Given the description of an element on the screen output the (x, y) to click on. 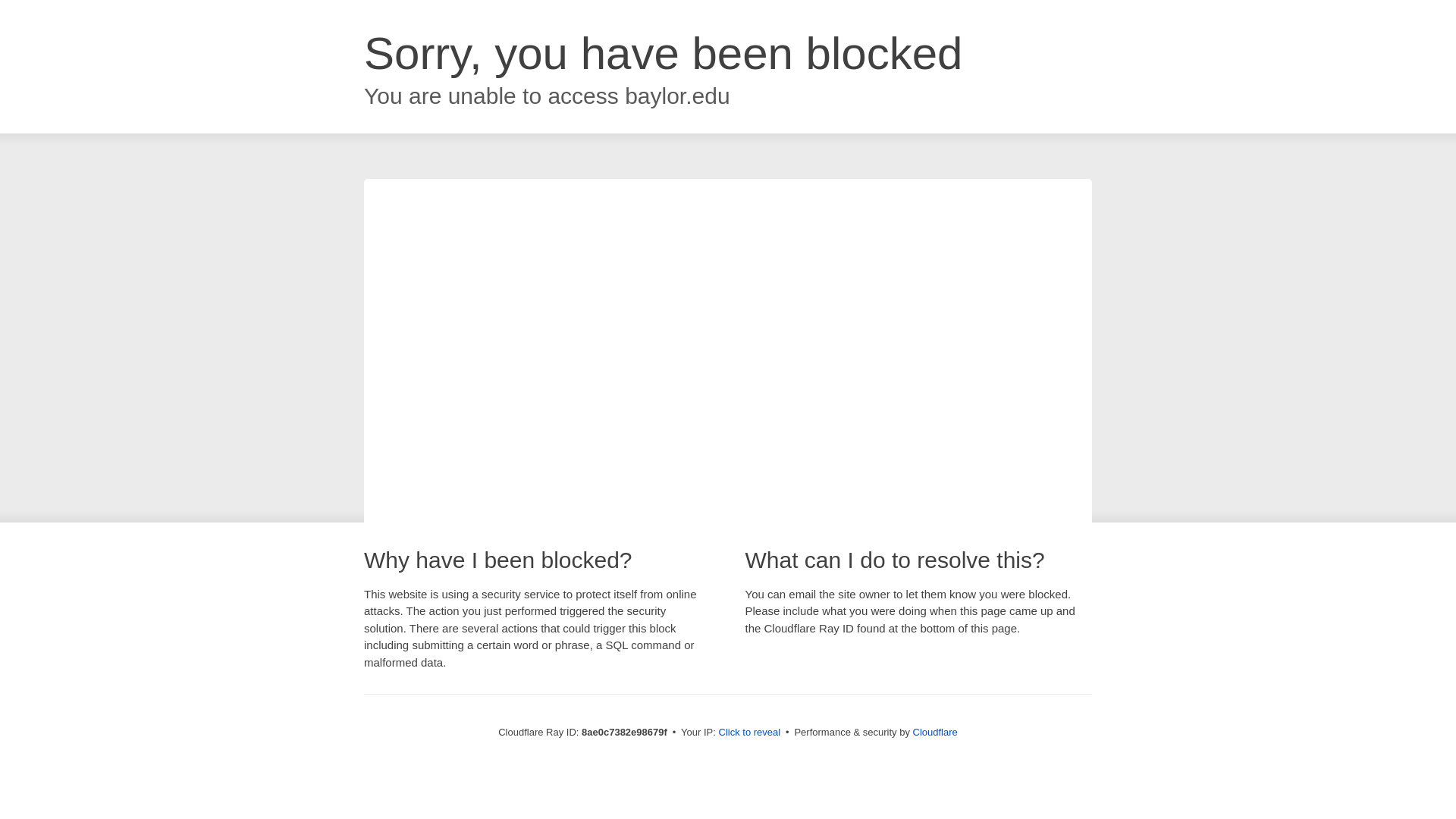
Cloudflare (935, 731)
Click to reveal (749, 732)
